Given the description of an element on the screen output the (x, y) to click on. 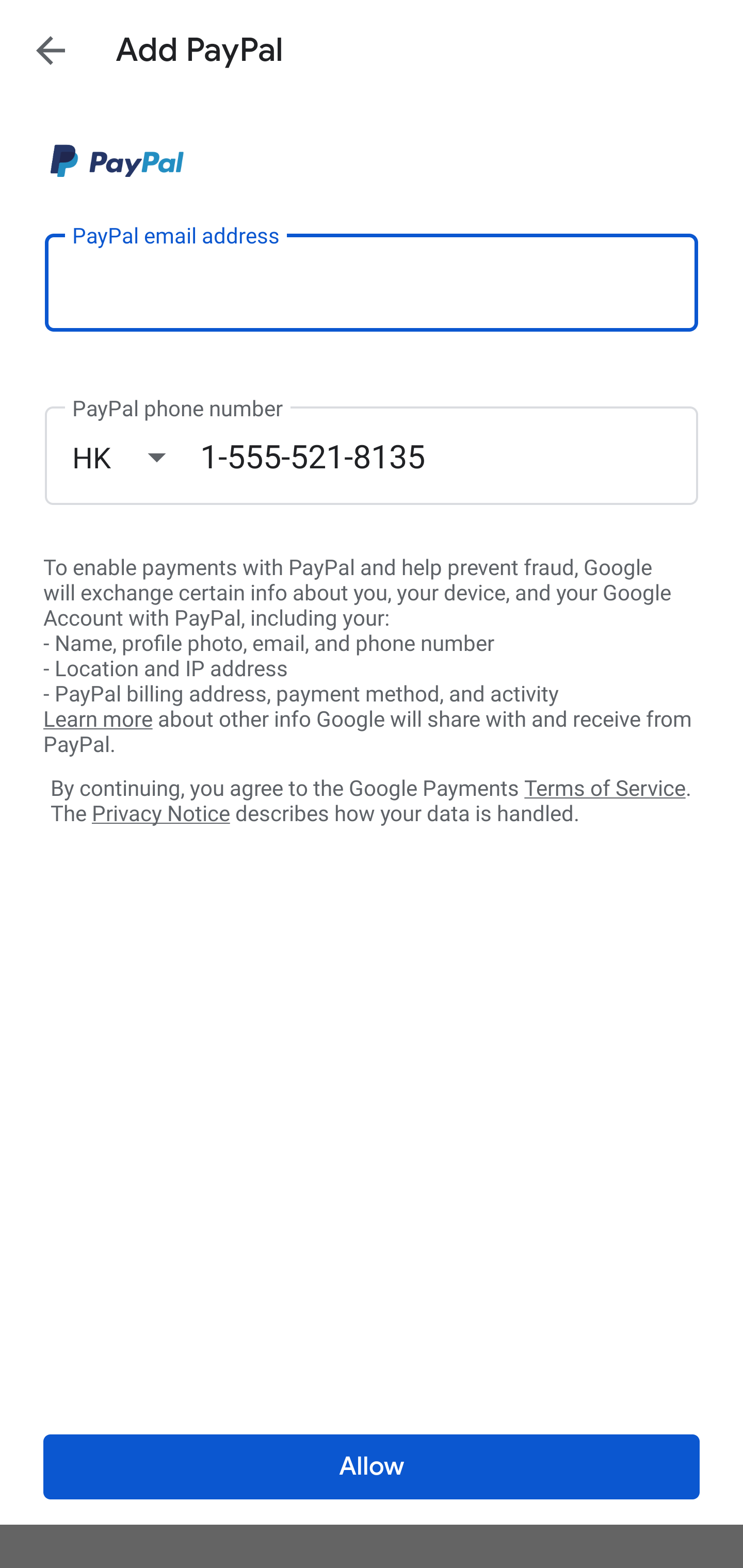
Navigate up (50, 50)
PayPal email address (371, 282)
HK (135, 456)
Learn more (97, 719)
Terms of Service (604, 787)
Privacy Notice (160, 814)
Allow (371, 1466)
